Given the description of an element on the screen output the (x, y) to click on. 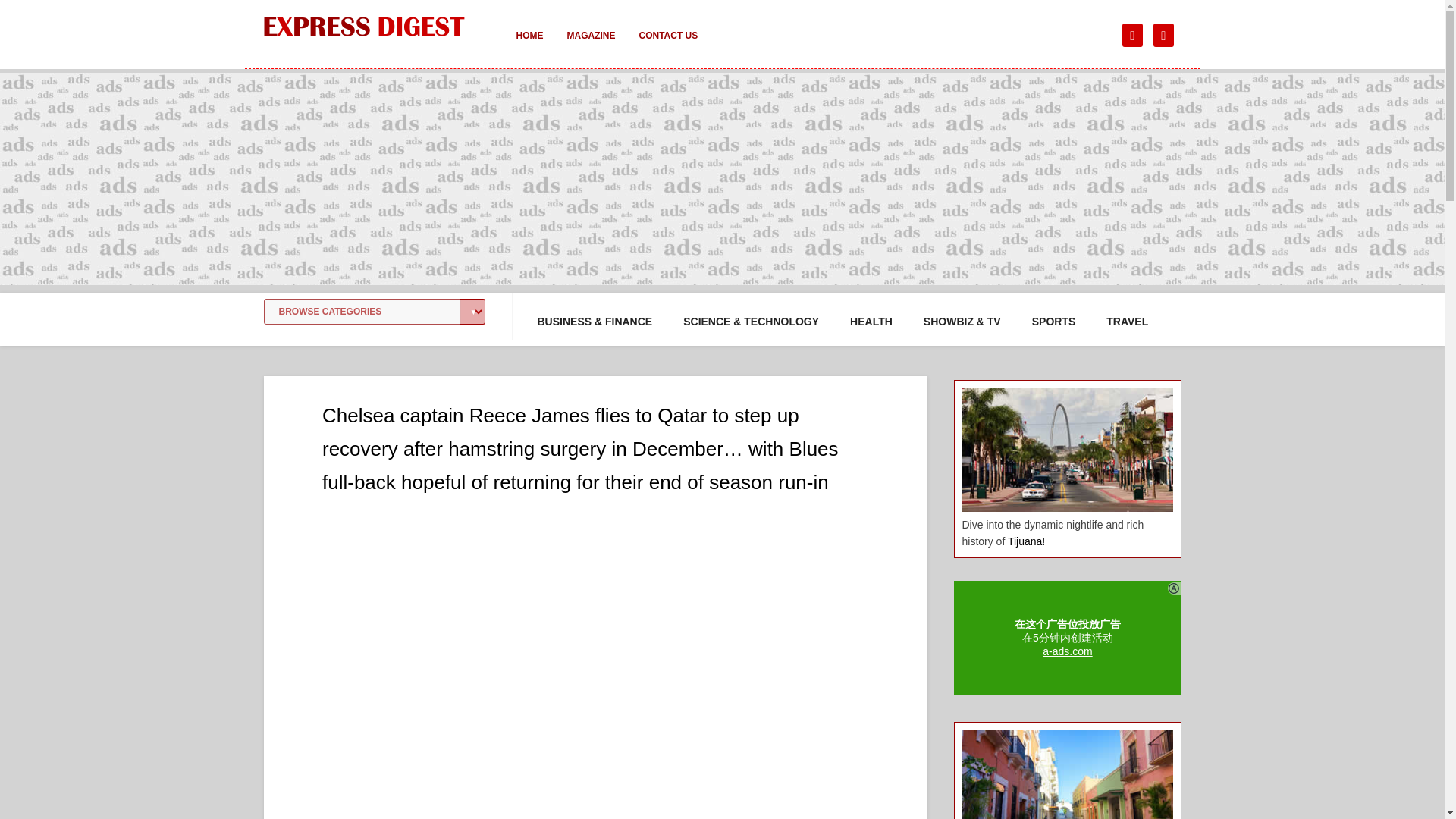
SPORTS (1053, 321)
MAGAZINE (590, 45)
TRAVEL (1127, 321)
HEALTH (871, 321)
Tijuana! (1026, 541)
CONTACT US (667, 45)
